Given the description of an element on the screen output the (x, y) to click on. 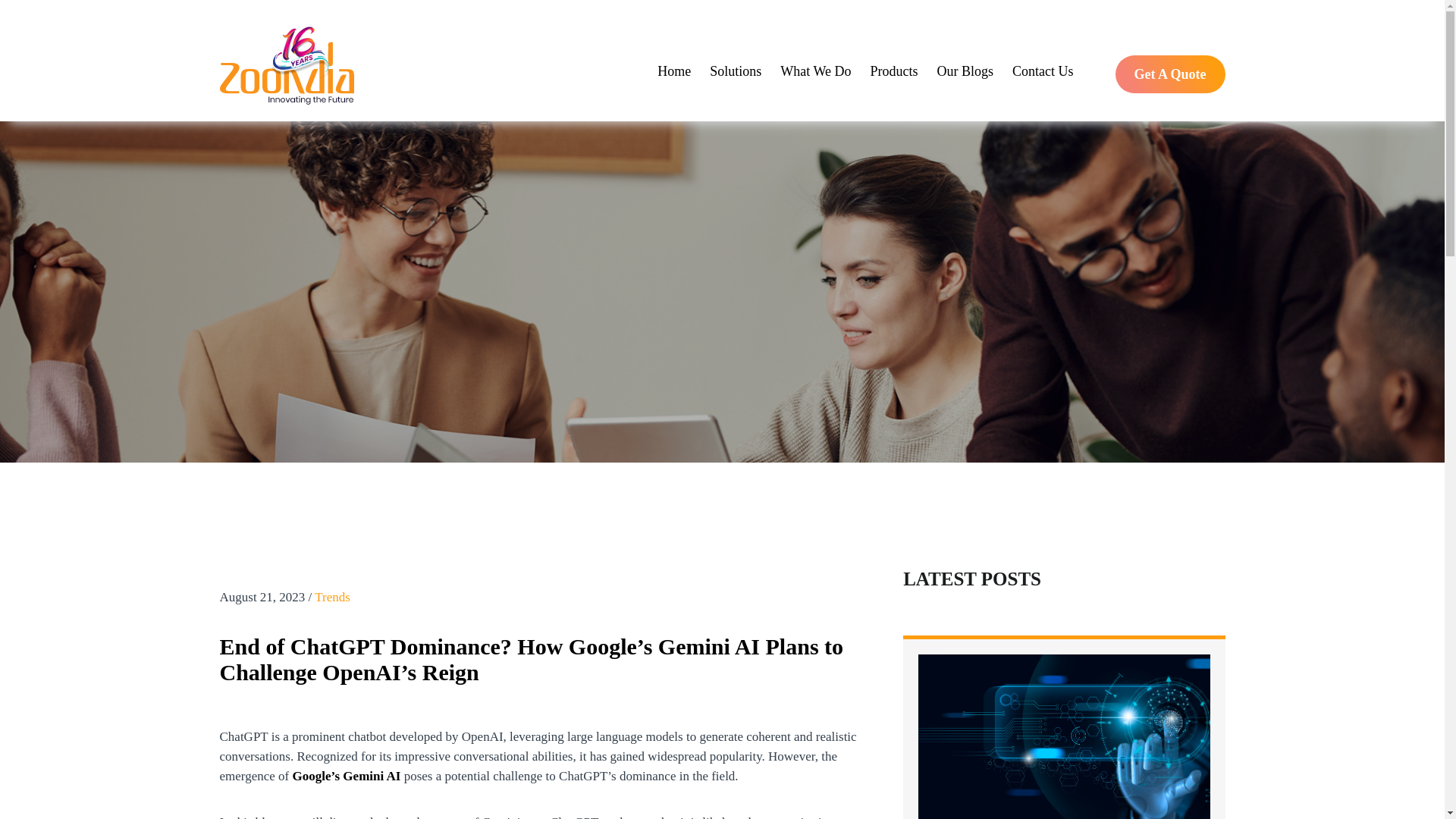
Contact Us (1042, 70)
Solutions (735, 70)
What We Do (815, 70)
Home (674, 70)
Get A Quote (1169, 74)
Our Blogs (964, 70)
Products (893, 70)
